Given the description of an element on the screen output the (x, y) to click on. 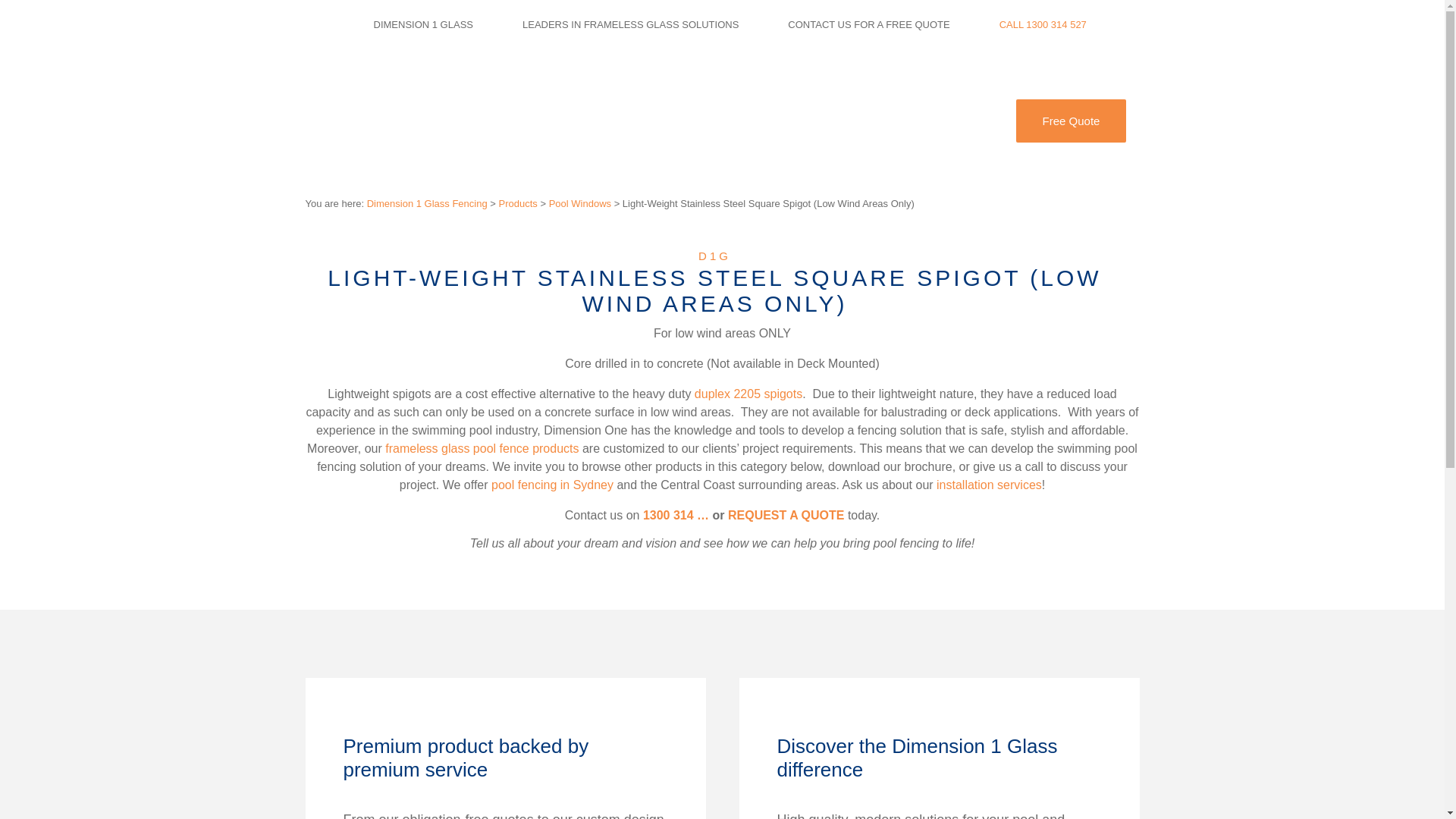
Go to Products. (518, 203)
Our Process (653, 120)
CALL 1300 314 527 (1042, 24)
Go to Pool Windows. (579, 203)
About Us (824, 120)
Go to Dimension 1 Glass Fencing. (426, 203)
CONTACT US FOR A FREE QUOTE (868, 24)
Products (562, 120)
Home (487, 120)
Projects (743, 120)
LEADERS IN FRAMELESS GLASS SOLUTIONS (630, 24)
DIMENSION 1 GLASS (421, 24)
